Given the description of an element on the screen output the (x, y) to click on. 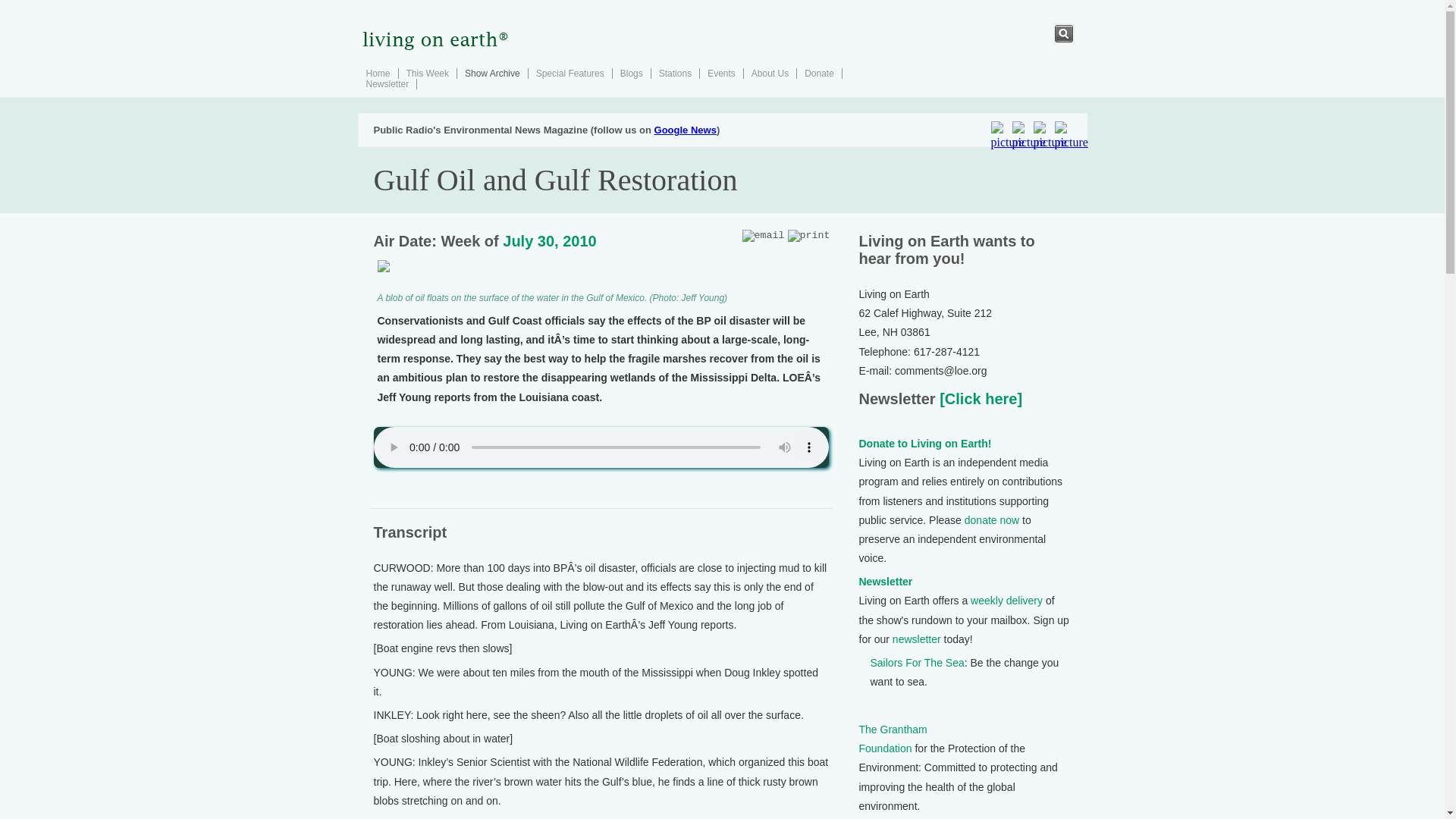
This Week (427, 72)
July 30, 2010 (548, 240)
Special Features (569, 72)
Stations (675, 72)
email (762, 235)
Events (721, 72)
Newsletter (387, 83)
About Us (770, 72)
donate now (991, 520)
Donate (819, 72)
